Given the description of an element on the screen output the (x, y) to click on. 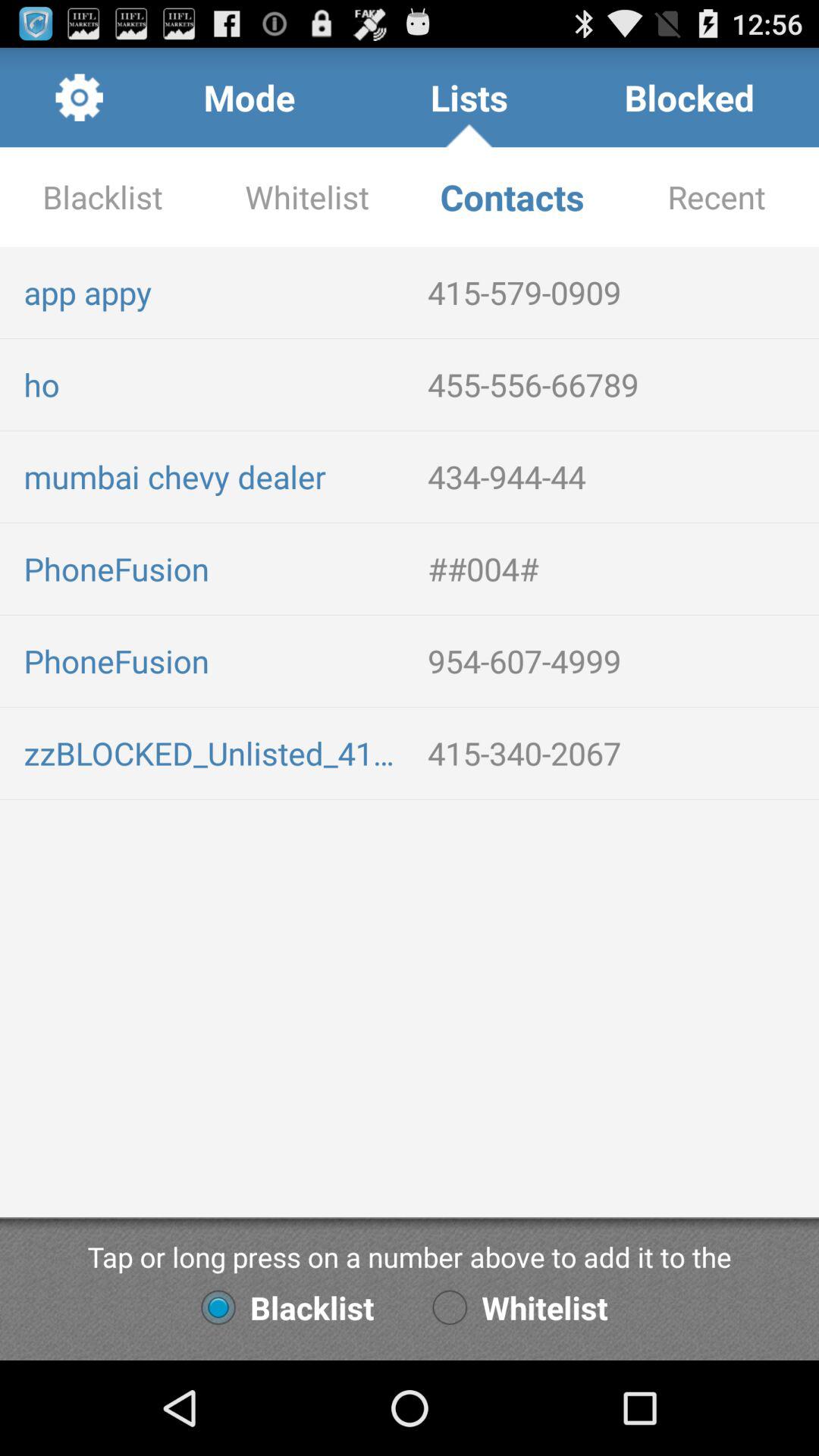
press the app next to the ho app (617, 384)
